Given the description of an element on the screen output the (x, y) to click on. 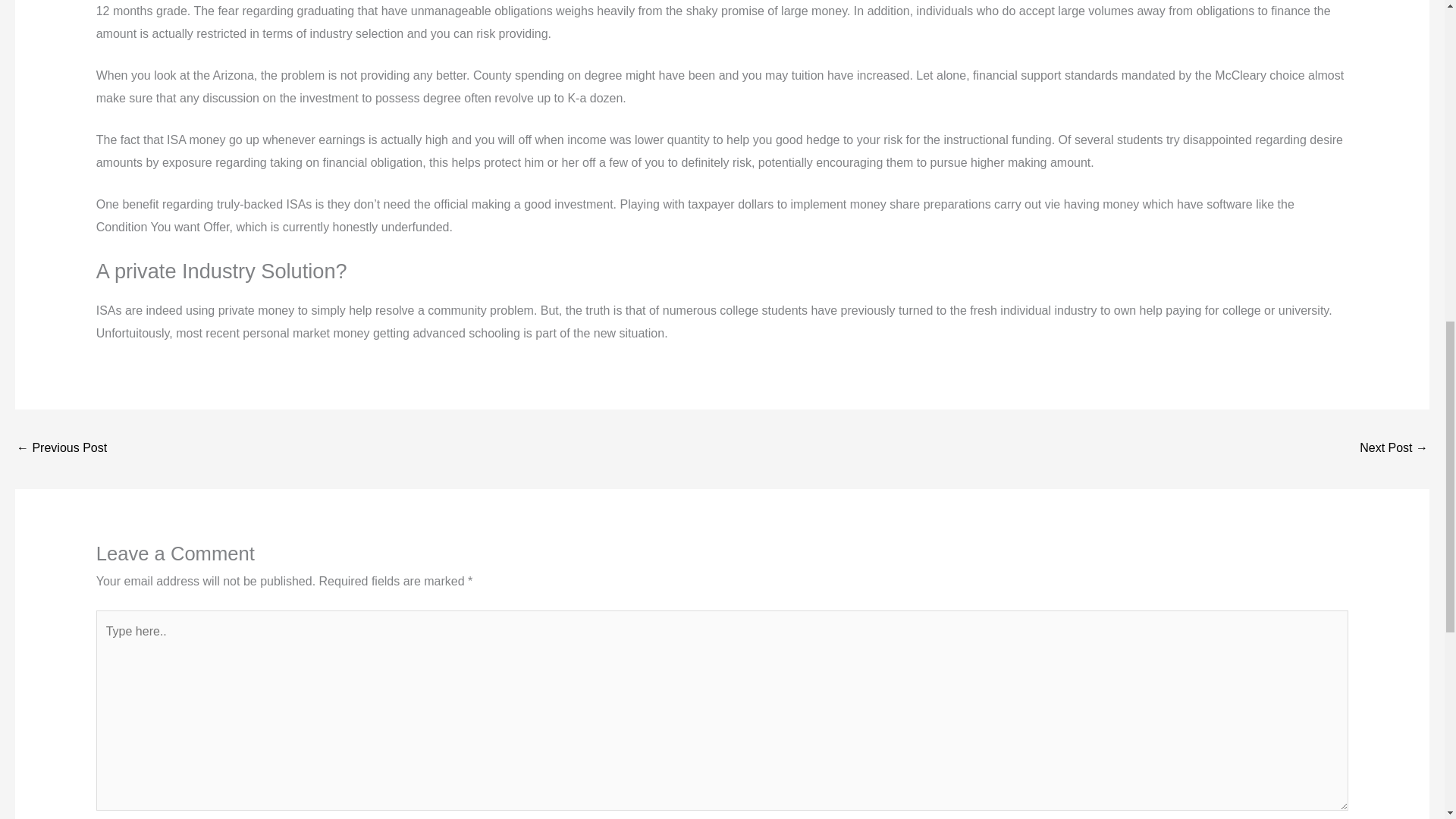
An extremely Merry Christmas that have a payday loan (61, 448)
